Given the description of an element on the screen output the (x, y) to click on. 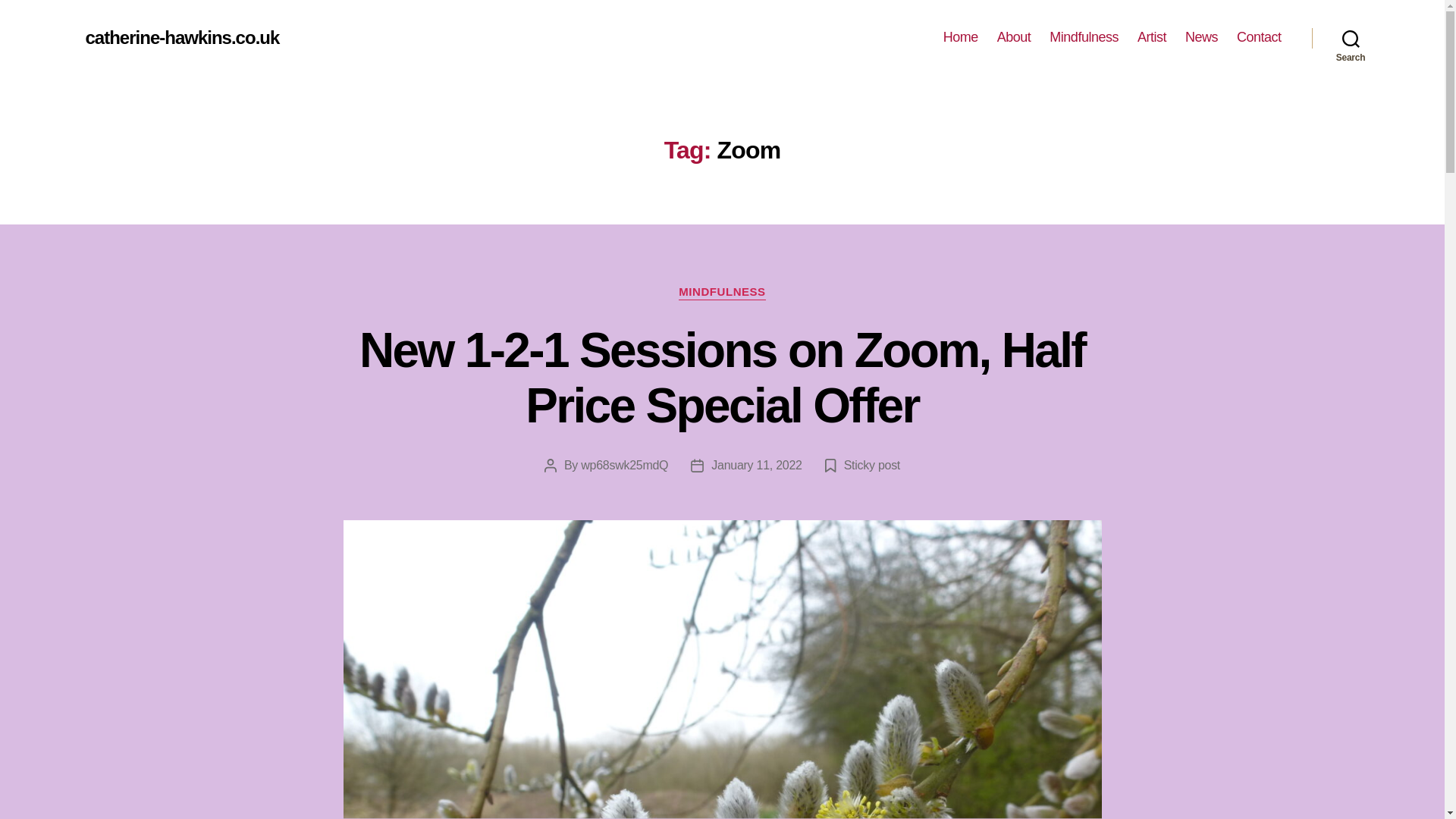
MINDFULNESS (721, 292)
wp68swk25mdQ (624, 464)
News (1201, 37)
Home (960, 37)
catherine-hawkins.co.uk (181, 37)
About (1013, 37)
Artist (1151, 37)
Search (1350, 37)
New 1-2-1 Sessions on Zoom, Half Price Special Offer (721, 377)
Contact (1258, 37)
